Given the description of an element on the screen output the (x, y) to click on. 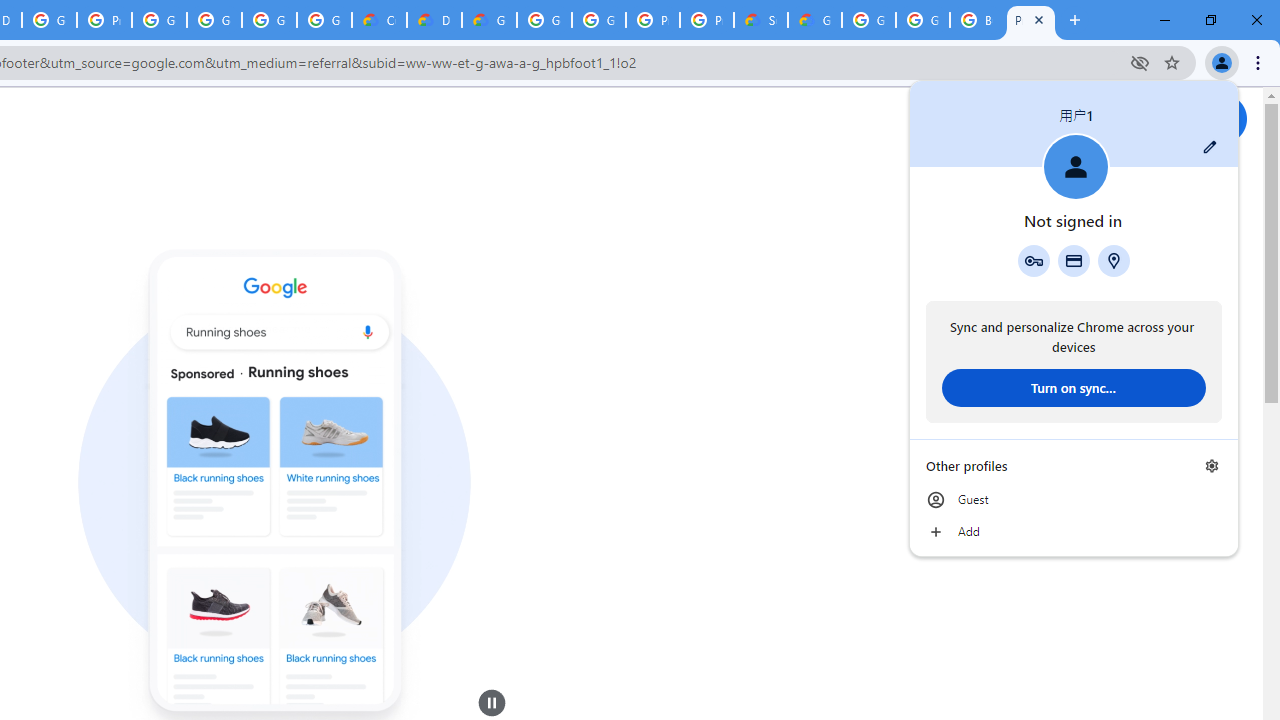
Google Password Manager (1033, 260)
Google Workspace - Specific Terms (324, 20)
Google Workspace - Specific Terms (268, 20)
Manage profiles (1211, 465)
Google Cloud Platform (598, 20)
Support Hub | Google Cloud (760, 20)
Payment methods (1074, 260)
